Given the description of an element on the screen output the (x, y) to click on. 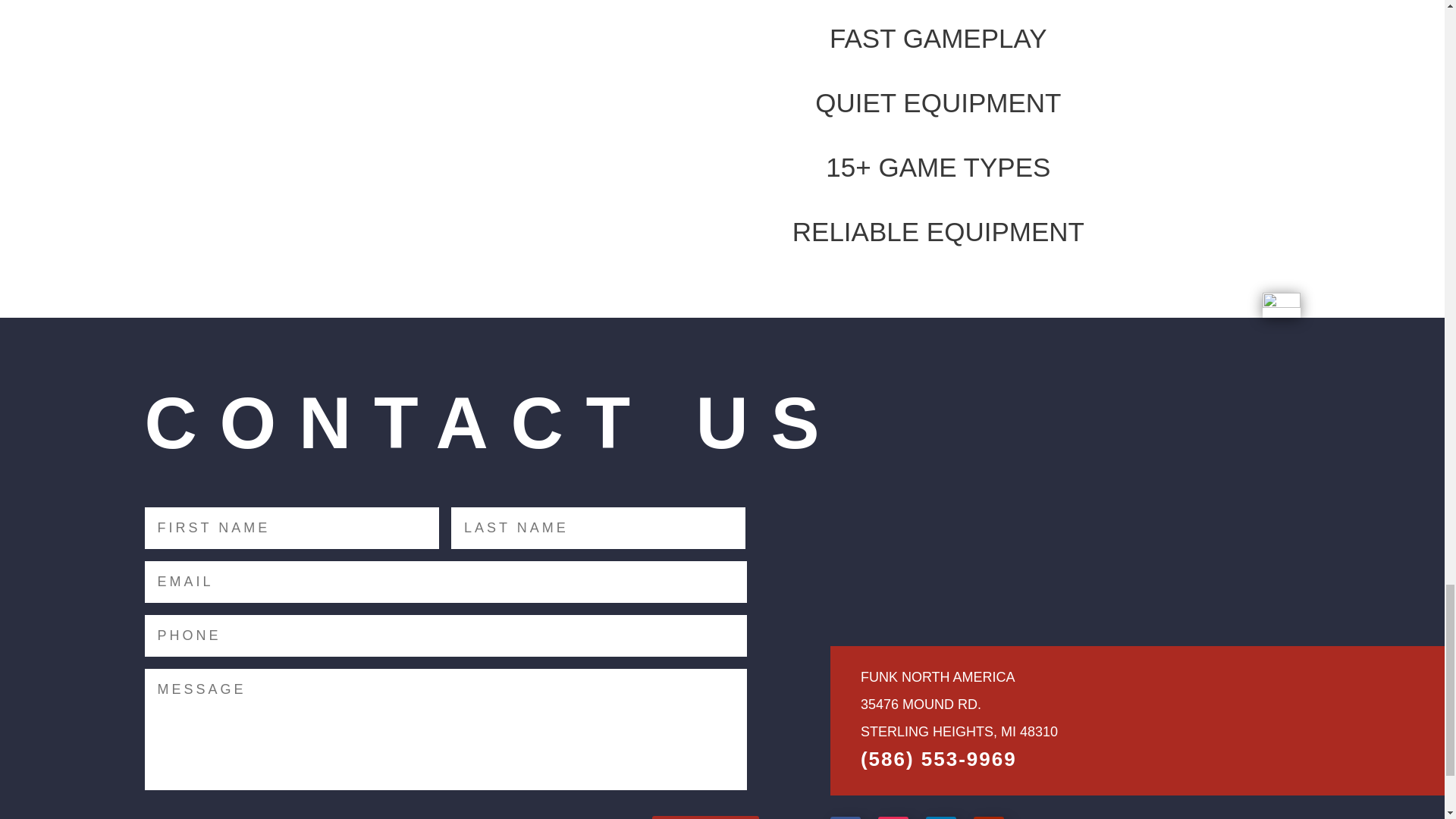
german-flag-funk-germany-website-50px (1281, 304)
Funk-Bowling-Signature-White-Bowling-Center-Equipment228x86 (950, 552)
Follow on LinkedIn (941, 817)
Follow on Facebook (844, 817)
Follow on Instagram (892, 817)
SUBMIT (705, 817)
